Given the description of an element on the screen output the (x, y) to click on. 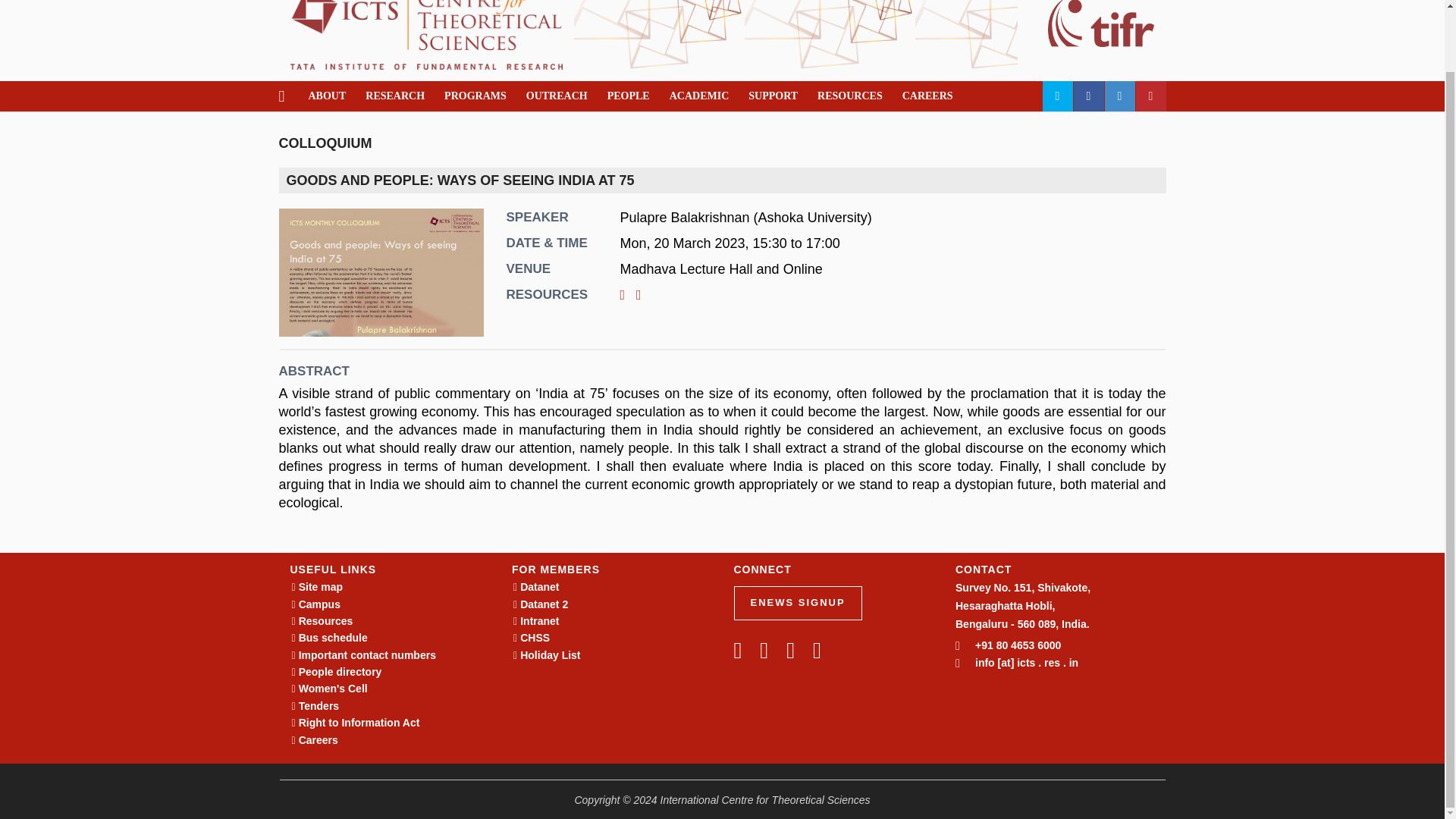
Home (425, 20)
